Given the description of an element on the screen output the (x, y) to click on. 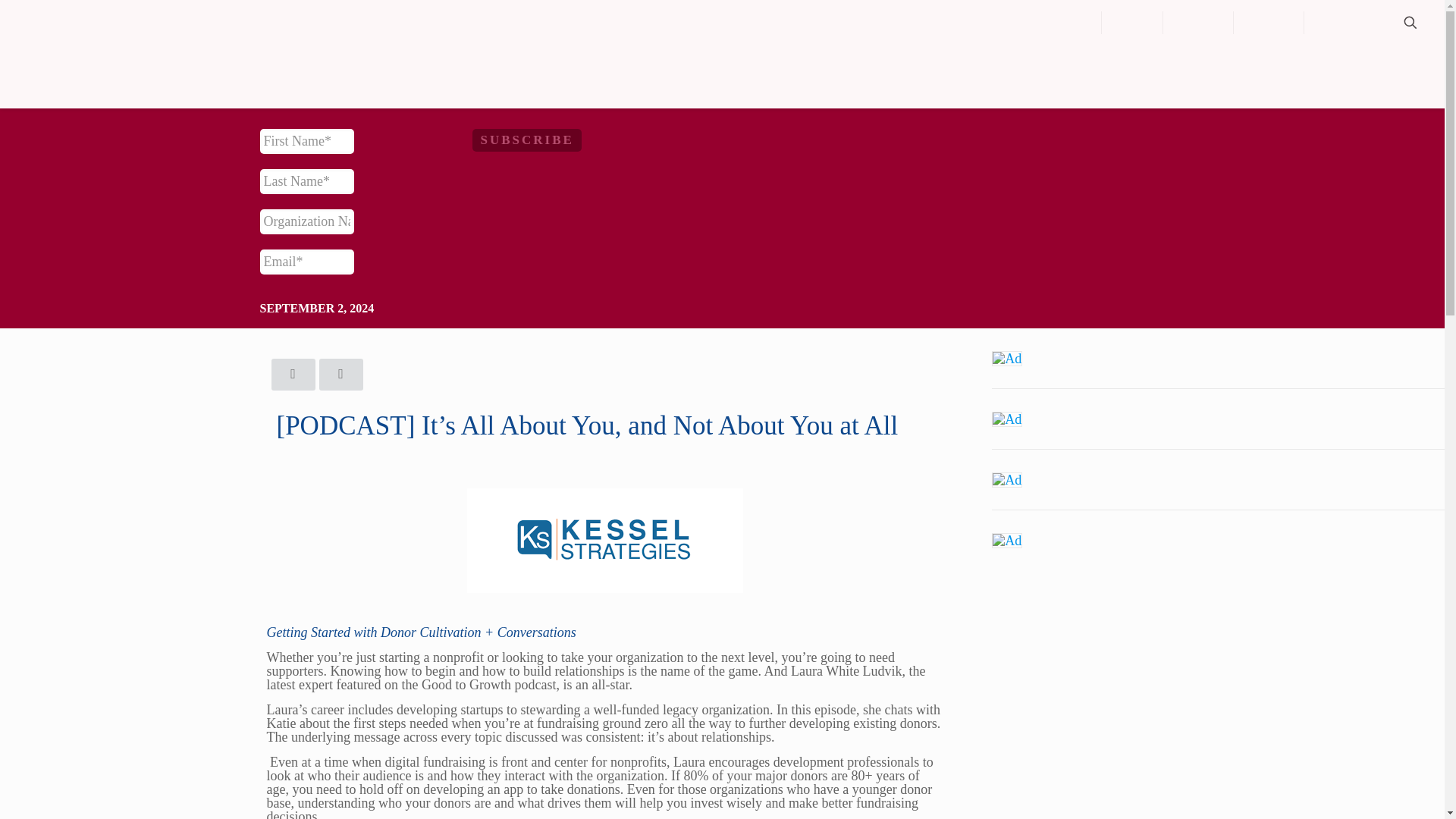
Home (1071, 22)
SUBSCRIBE (525, 139)
SUBSCRIBE (525, 139)
Contact (1268, 22)
Media Kit (1342, 22)
Articles (1198, 22)
About (1132, 22)
InsideCharity.org (244, 22)
